Given the description of an element on the screen output the (x, y) to click on. 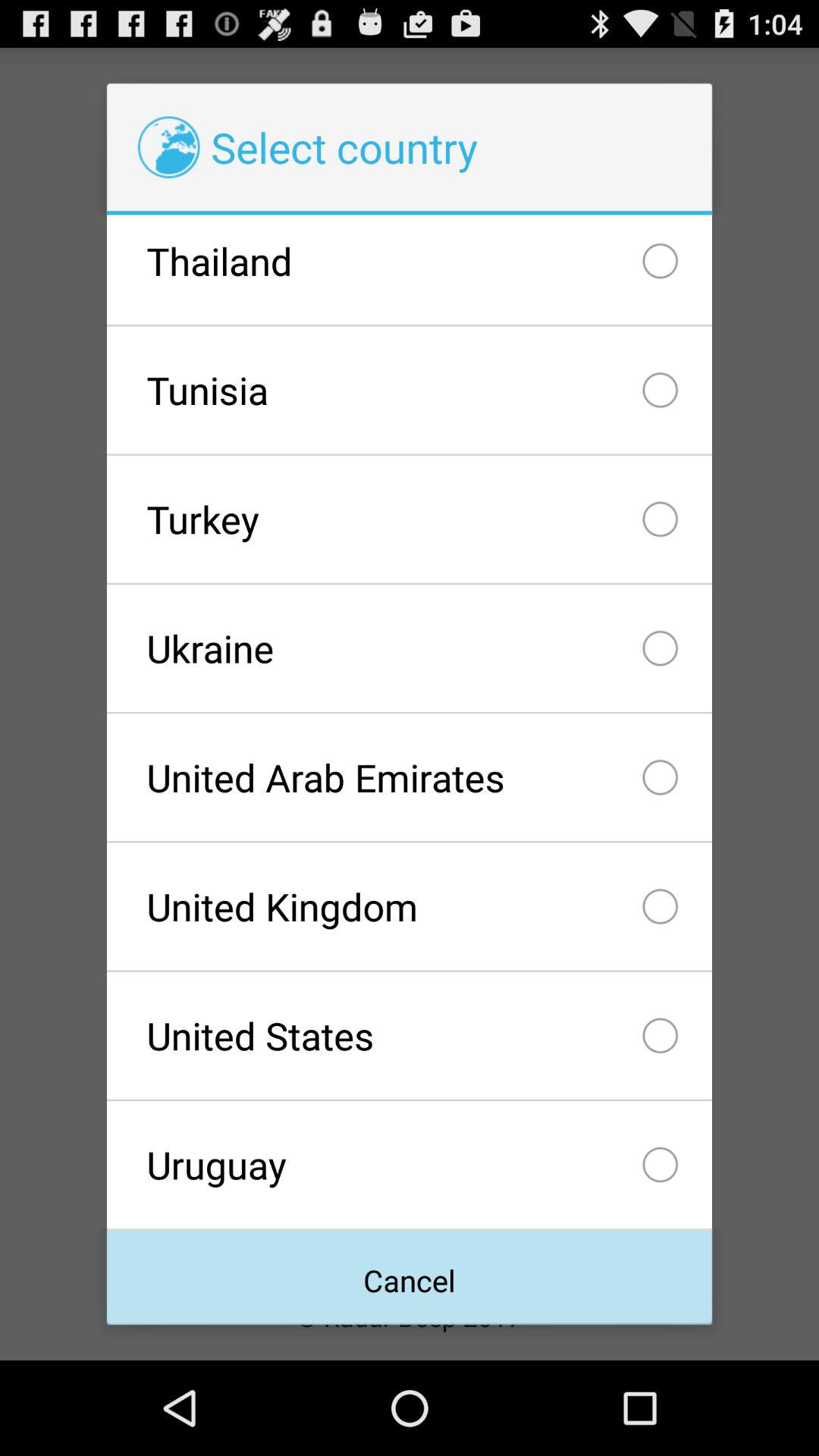
tap icon above united states (409, 906)
